Given the description of an element on the screen output the (x, y) to click on. 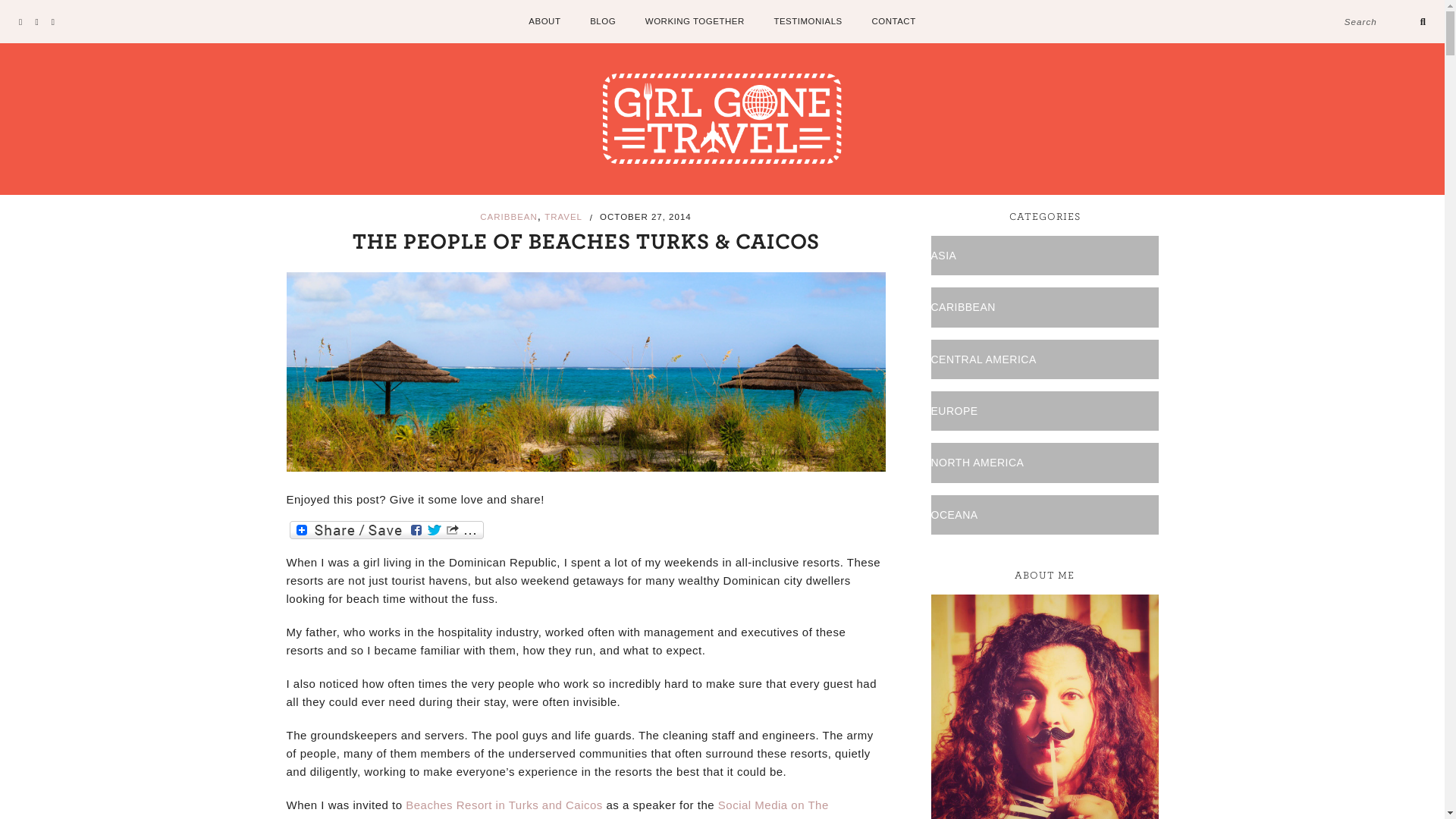
BLOG (602, 20)
Beaches Resort in Turks and Caicos (504, 804)
OCTOBER 27, 2014 (645, 215)
WORKING TOGETHER (694, 20)
Social Media on The Sand (557, 808)
ABOUT (544, 20)
TESTIMONIALS (807, 20)
TRAVEL (563, 216)
CARIBBEAN (508, 216)
CONTACT (892, 20)
